Given the description of an element on the screen output the (x, y) to click on. 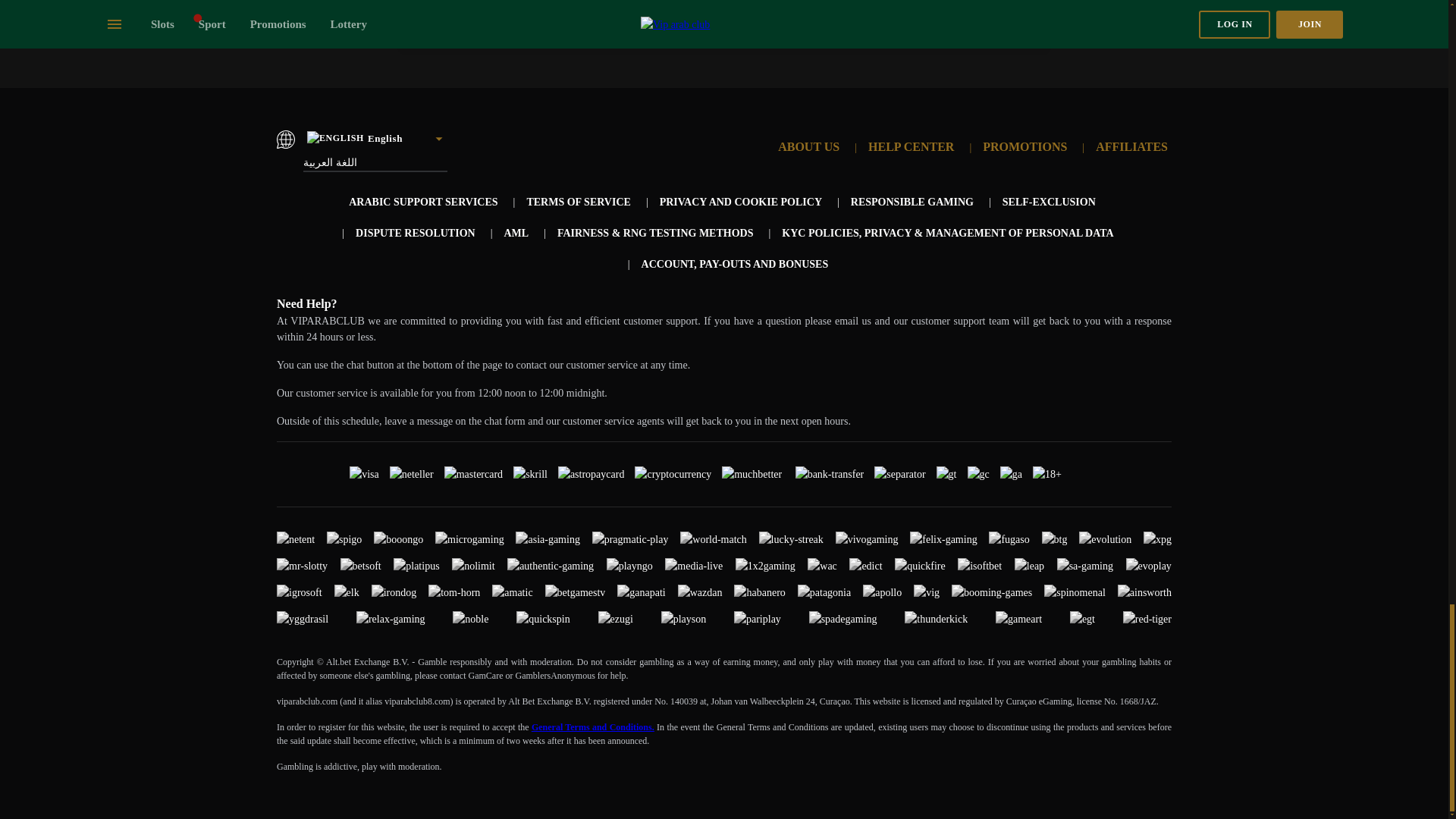
ABOUT US (808, 146)
TERMS OF SERVICE (577, 202)
General Terms and Conditions. (592, 726)
DISPUTE RESOLUTION (415, 233)
PROMOTIONS (1024, 146)
ACCOUNT, PAY-OUTS AND BONUSES (735, 264)
PRIVACY AND COOKIE POLICY (740, 202)
HELP CENTER (910, 146)
RESPONSIBLE GAMING (912, 202)
AML (515, 233)
AFFILIATES (1131, 146)
ARABIC SUPPORT SERVICES (423, 202)
SELF-EXCLUSION (1049, 202)
